Given the description of an element on the screen output the (x, y) to click on. 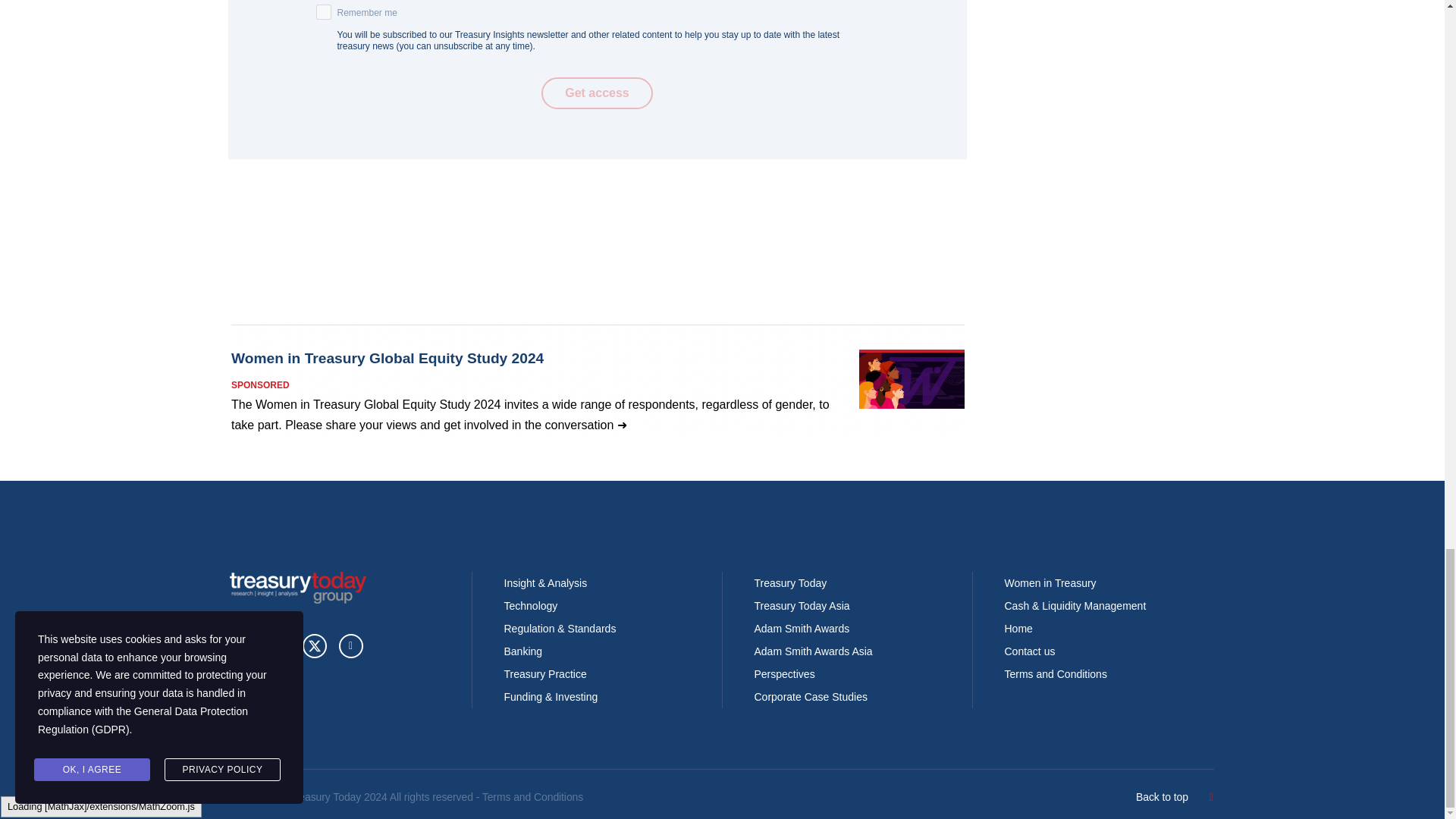
3rd party ad content (596, 381)
on (322, 11)
